Given the description of an element on the screen output the (x, y) to click on. 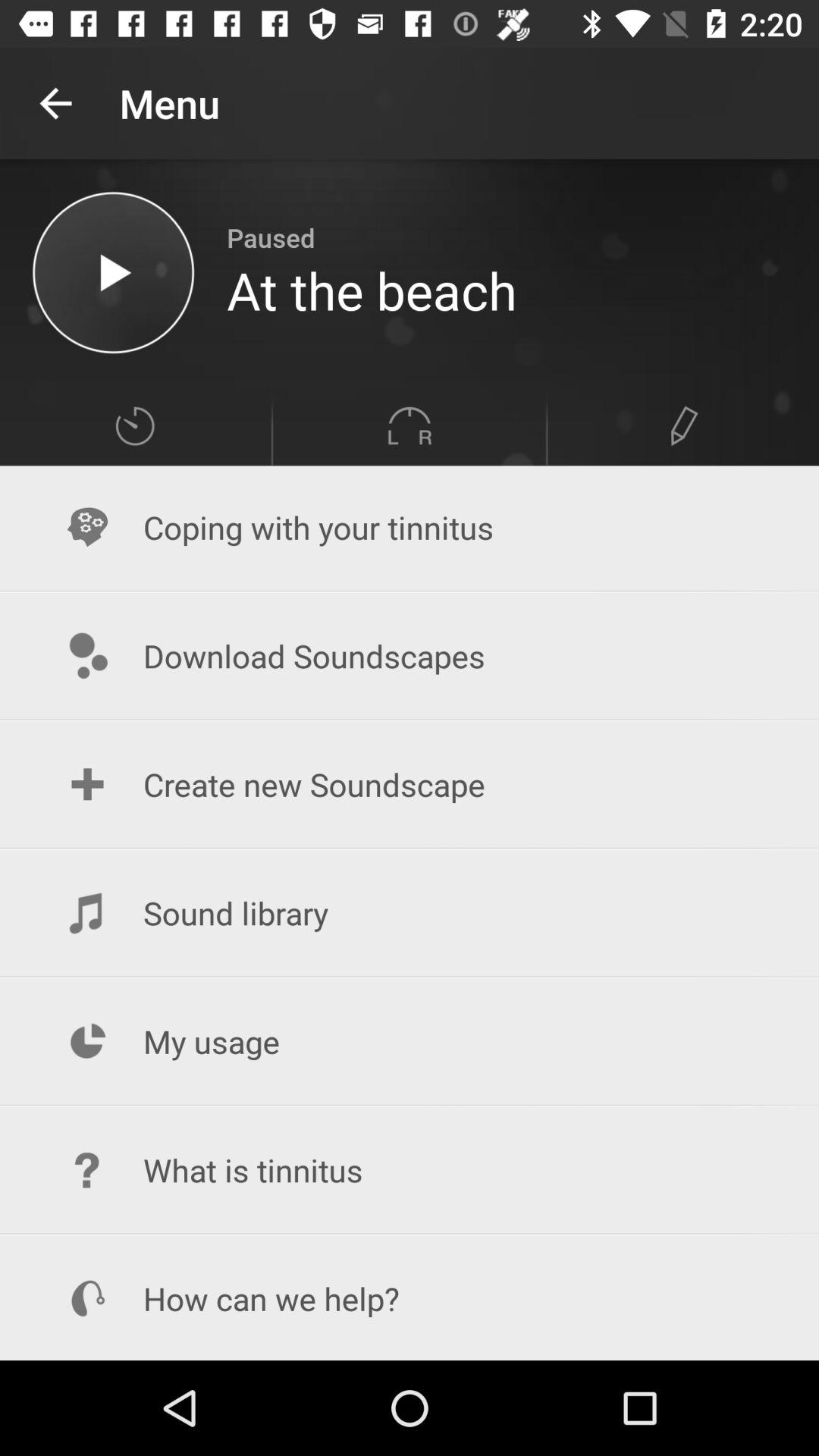
write something (684, 425)
